Given the description of an element on the screen output the (x, y) to click on. 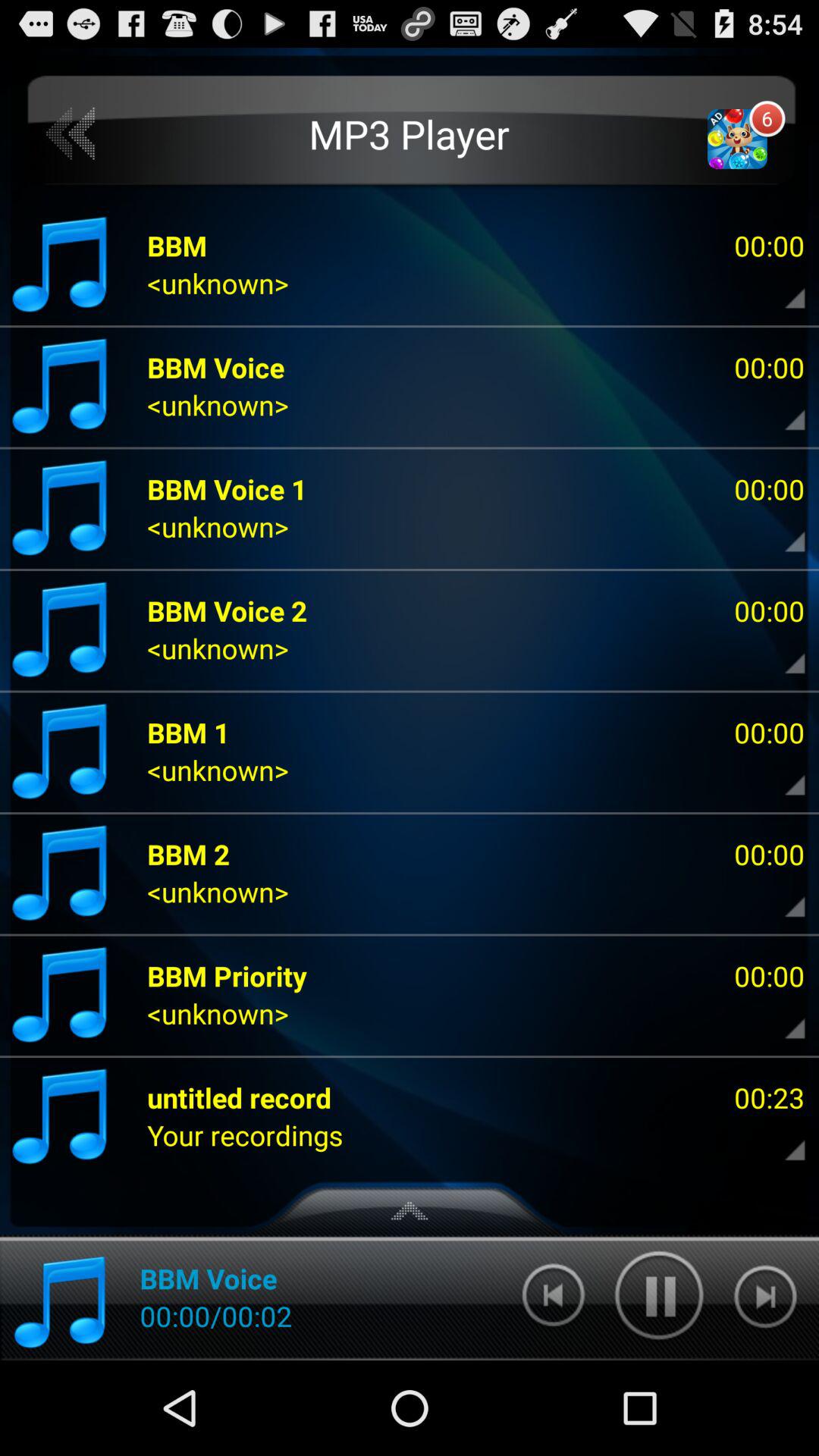
expand information (782, 530)
